Given the description of an element on the screen output the (x, y) to click on. 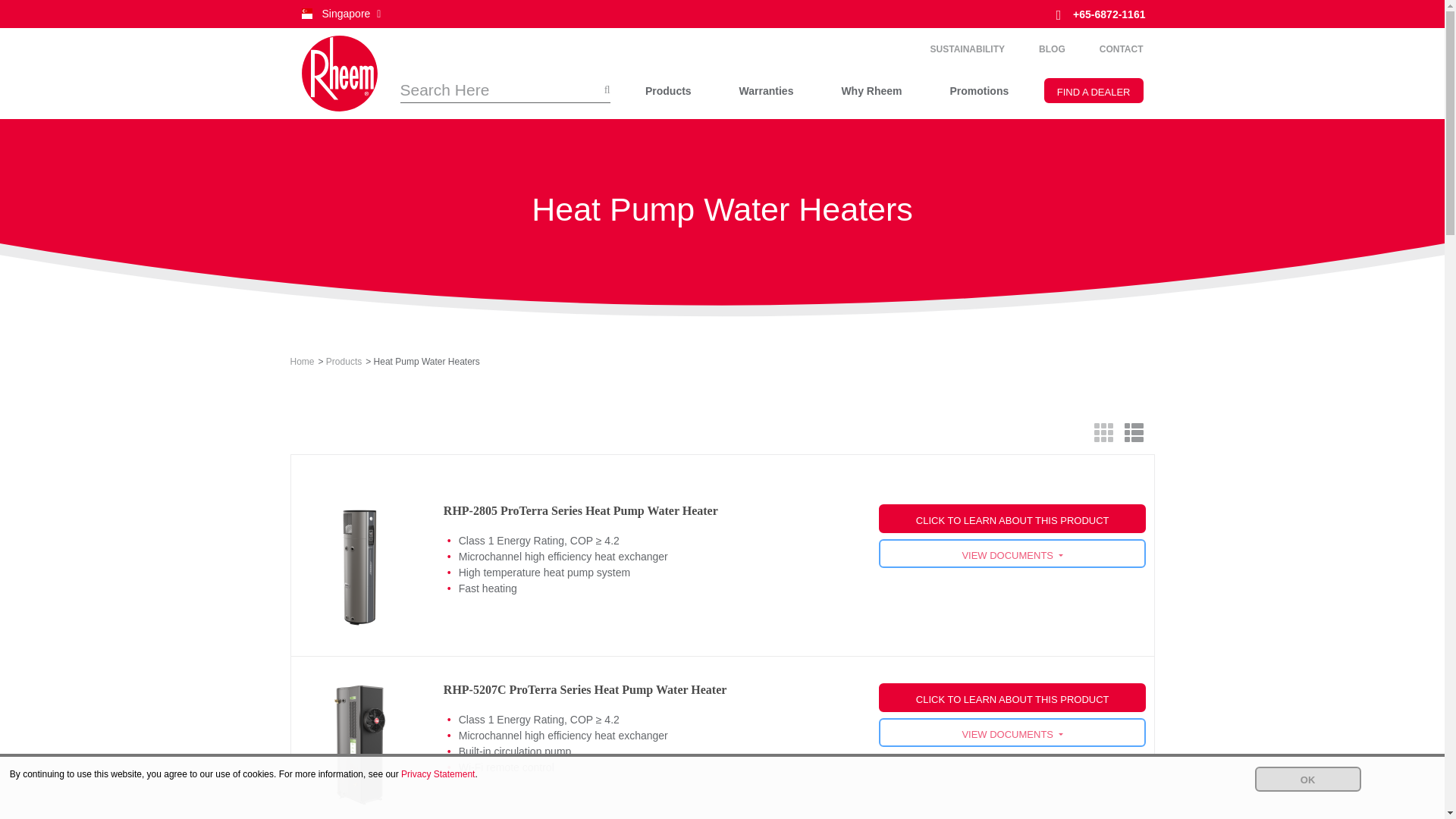
Go to Rheem. (301, 361)
Search for: (505, 90)
Singapore (339, 13)
Go to Products. (343, 361)
